Given the description of an element on the screen output the (x, y) to click on. 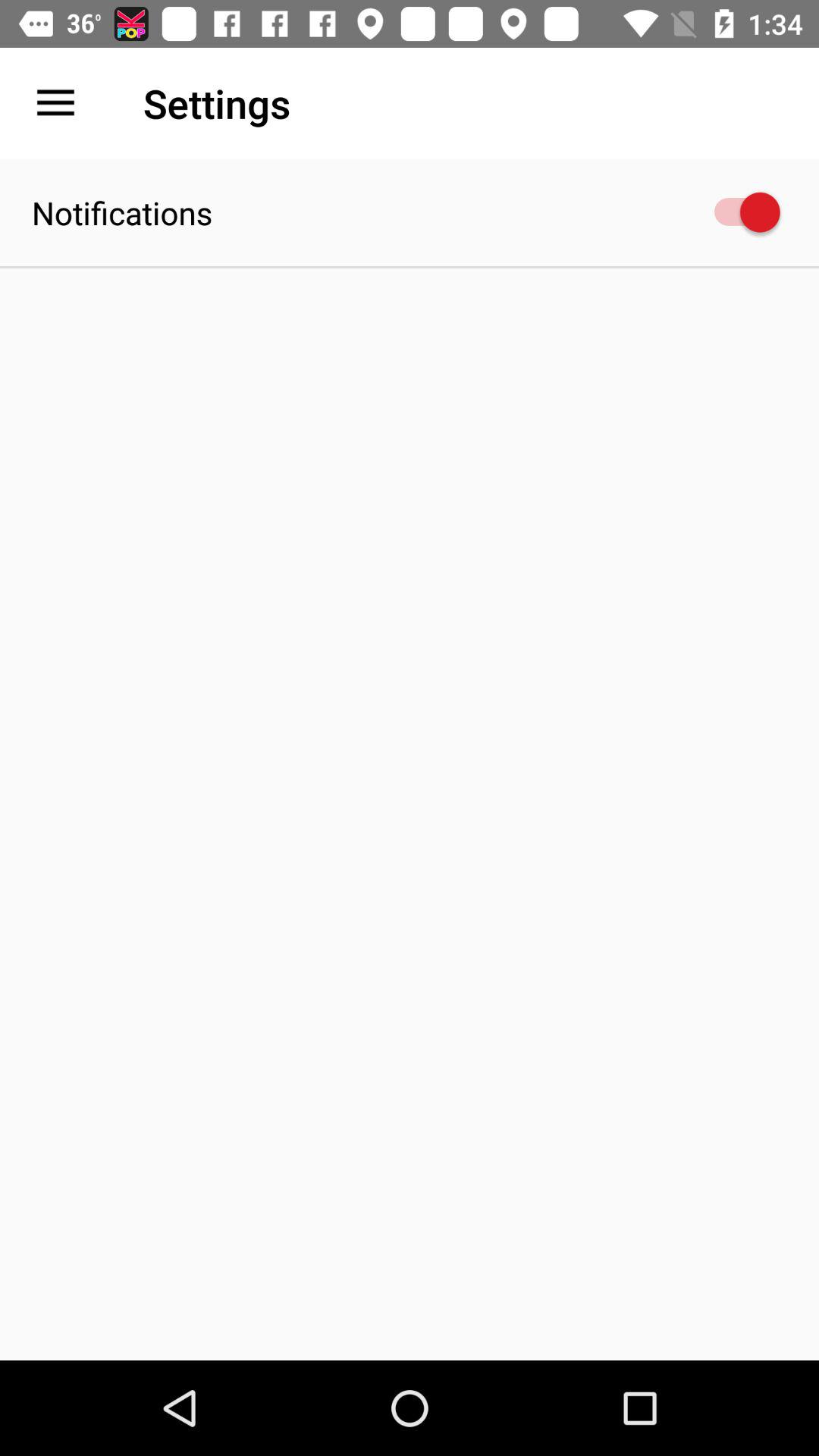
tap notifications item (121, 212)
